Given the description of an element on the screen output the (x, y) to click on. 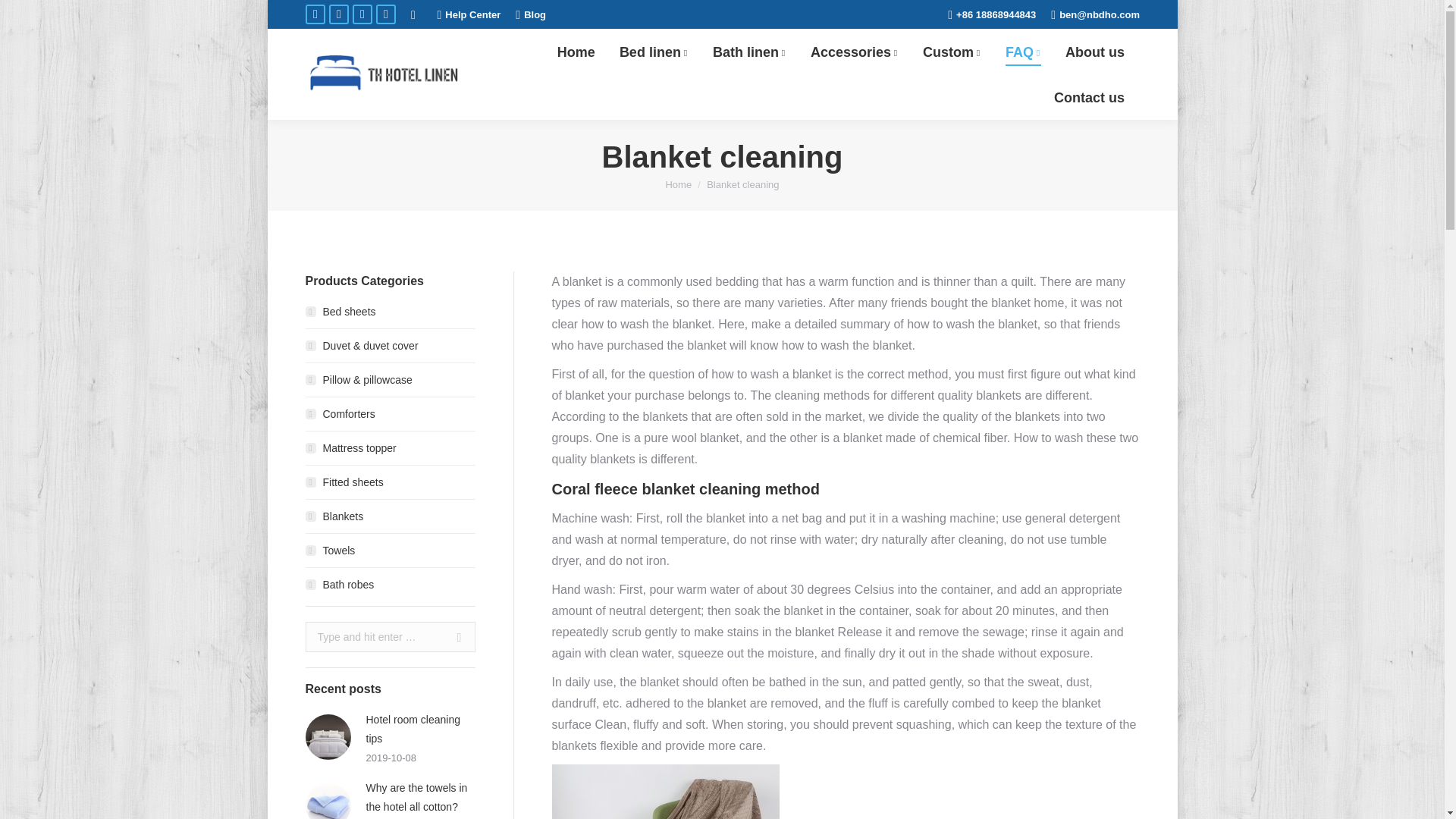
Twitter (339, 14)
Home (575, 51)
Custom (951, 51)
Pinterest (385, 14)
YouTube (361, 14)
Bed linen (653, 51)
Bath linen (748, 51)
Go! (22, 15)
Go! (453, 636)
Accessories (853, 51)
Facebook (314, 14)
Pinterest (385, 14)
Twitter (339, 14)
YouTube (361, 14)
Facebook (314, 14)
